Given the description of an element on the screen output the (x, y) to click on. 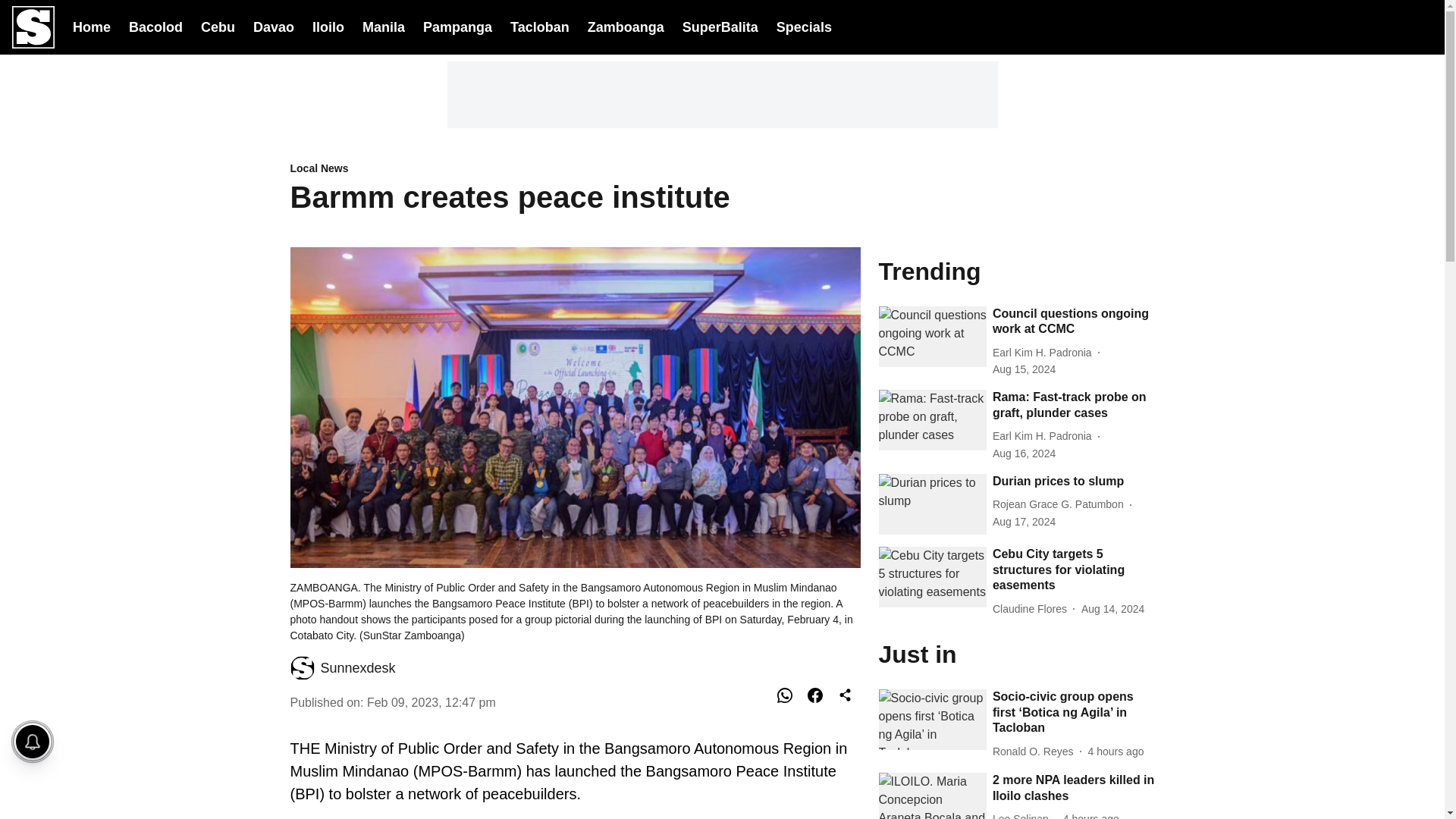
Home (91, 26)
Earl Kim H. Padronia (1044, 436)
Durian prices to slump (1073, 481)
Earl Kim H. Padronia (1044, 352)
Pampanga (457, 26)
2024-08-16 19:13 (1023, 521)
Council questions ongoing work at CCMC (1073, 322)
2024-08-17 18:42 (1115, 751)
Zamboanga (625, 26)
Bacolod (156, 26)
